Given the description of an element on the screen output the (x, y) to click on. 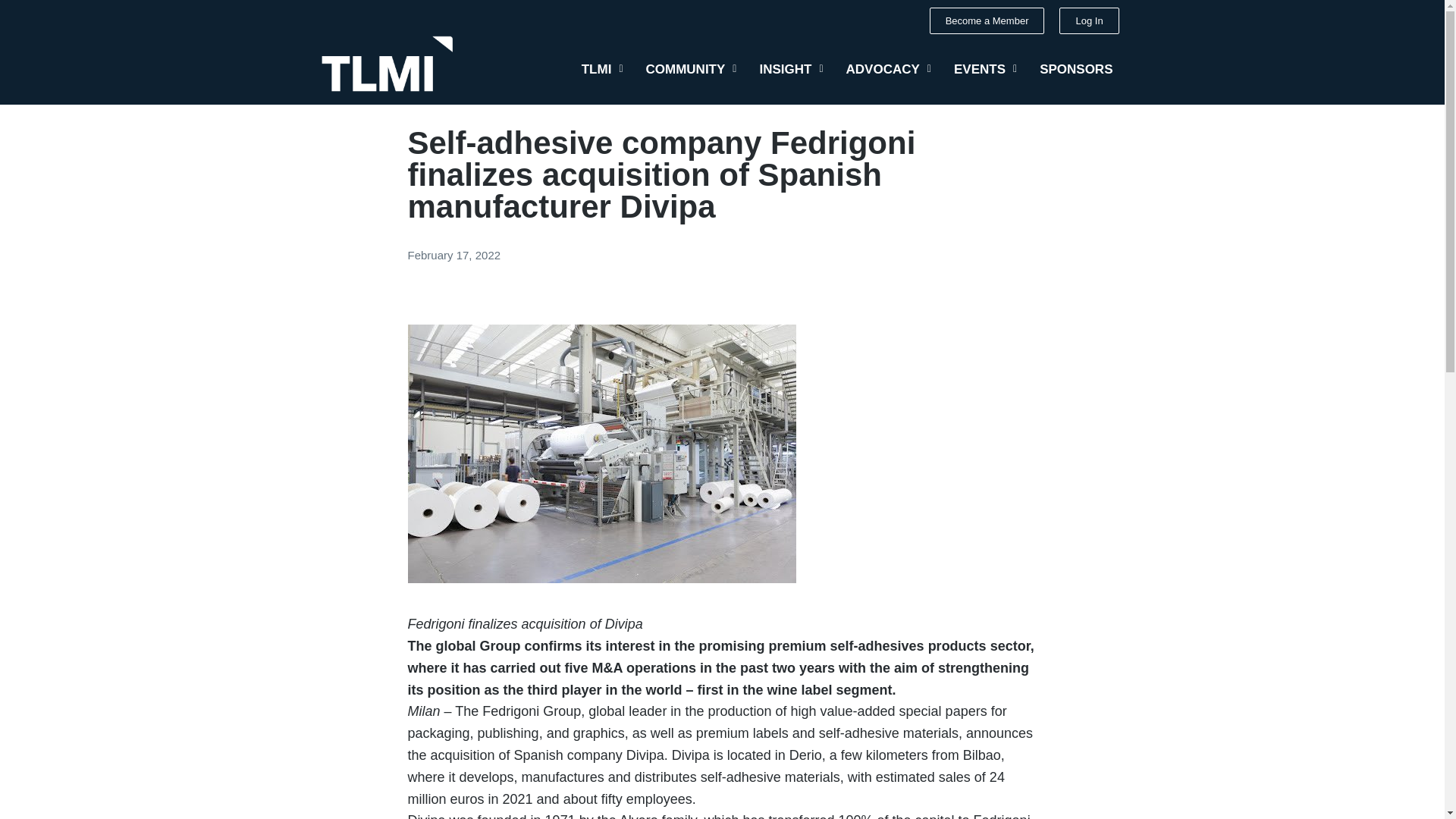
EVENTS (984, 68)
SPONSORS (1075, 68)
TLMI (602, 68)
COMMUNITY (691, 68)
INSIGHT (791, 68)
ADVOCACY (888, 68)
Become a Member (987, 20)
Log In (1088, 20)
